Given the description of an element on the screen output the (x, y) to click on. 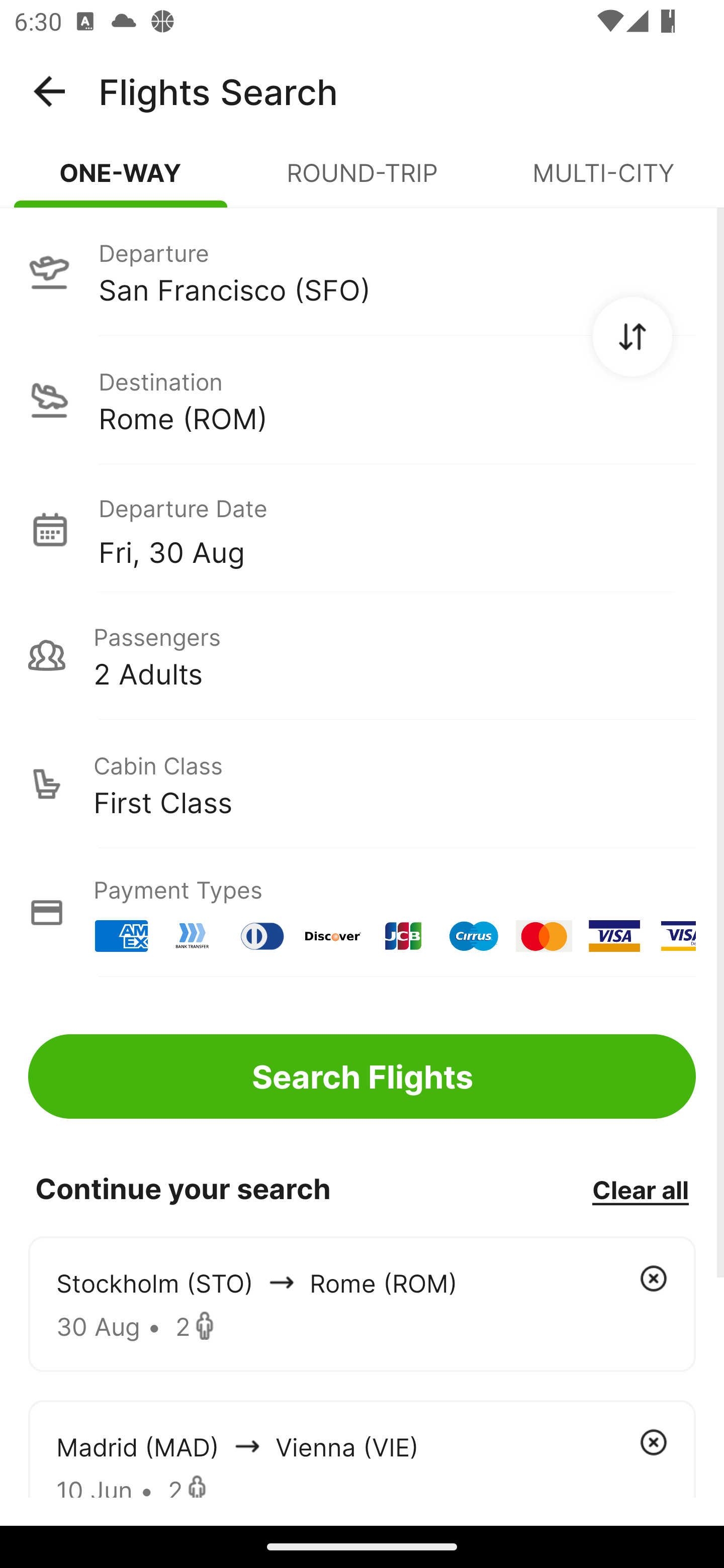
ONE-WAY (120, 180)
ROUND-TRIP (361, 180)
MULTI-CITY (603, 180)
Departure San Francisco (SFO) (362, 270)
Destination Rome (ROM) (362, 400)
Departure Date Fri, 30 Aug (396, 528)
Passengers 2 Adults (362, 655)
Cabin Class First Class (362, 783)
Payment Types (362, 912)
Search Flights (361, 1075)
Clear all (640, 1189)
Madrid (MAD)  arrowIcon  Vienna (VIE) 10 Jun •  2  (361, 1448)
